Given the description of an element on the screen output the (x, y) to click on. 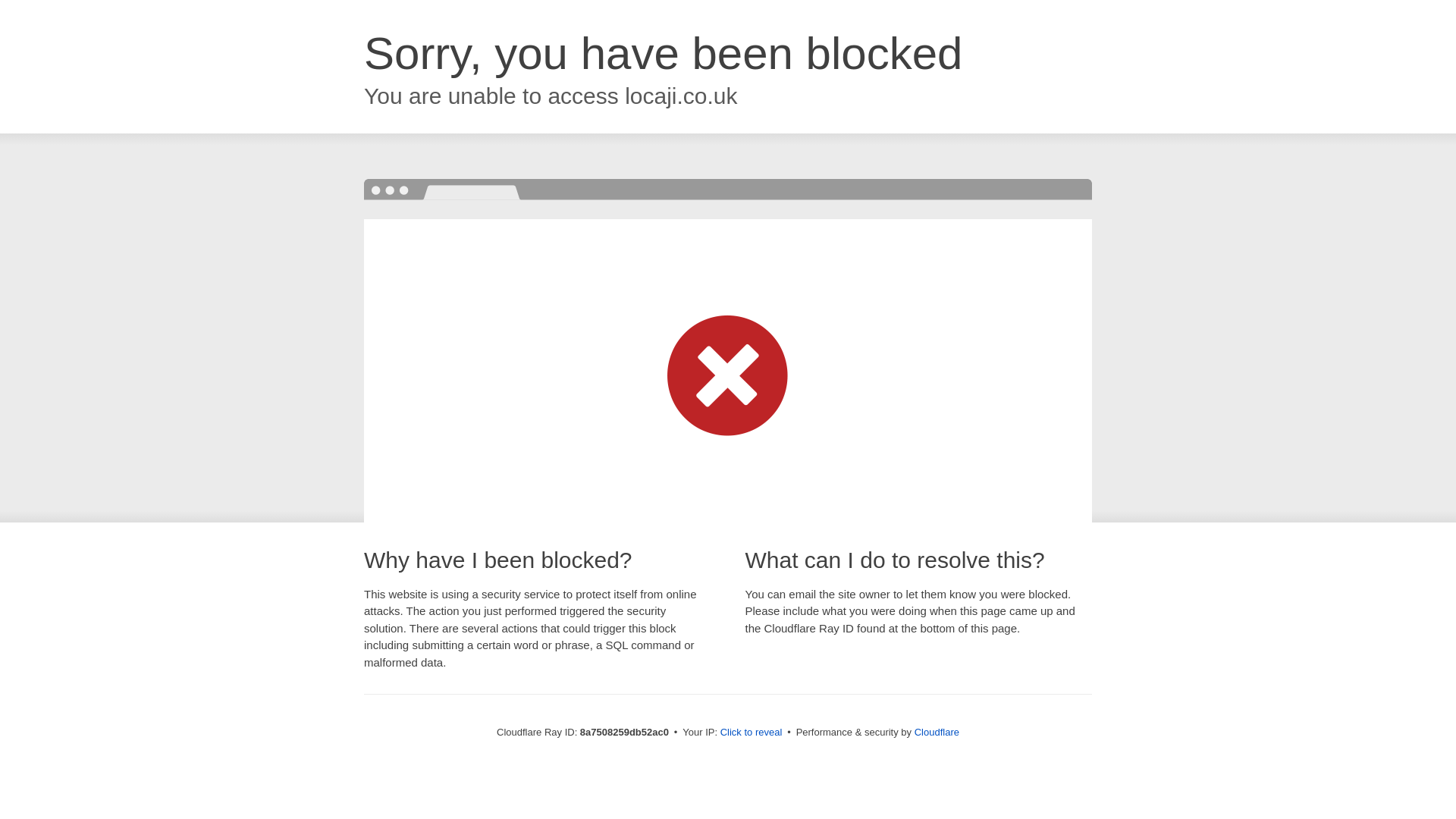
Cloudflare (936, 731)
Click to reveal (751, 732)
